Given the description of an element on the screen output the (x, y) to click on. 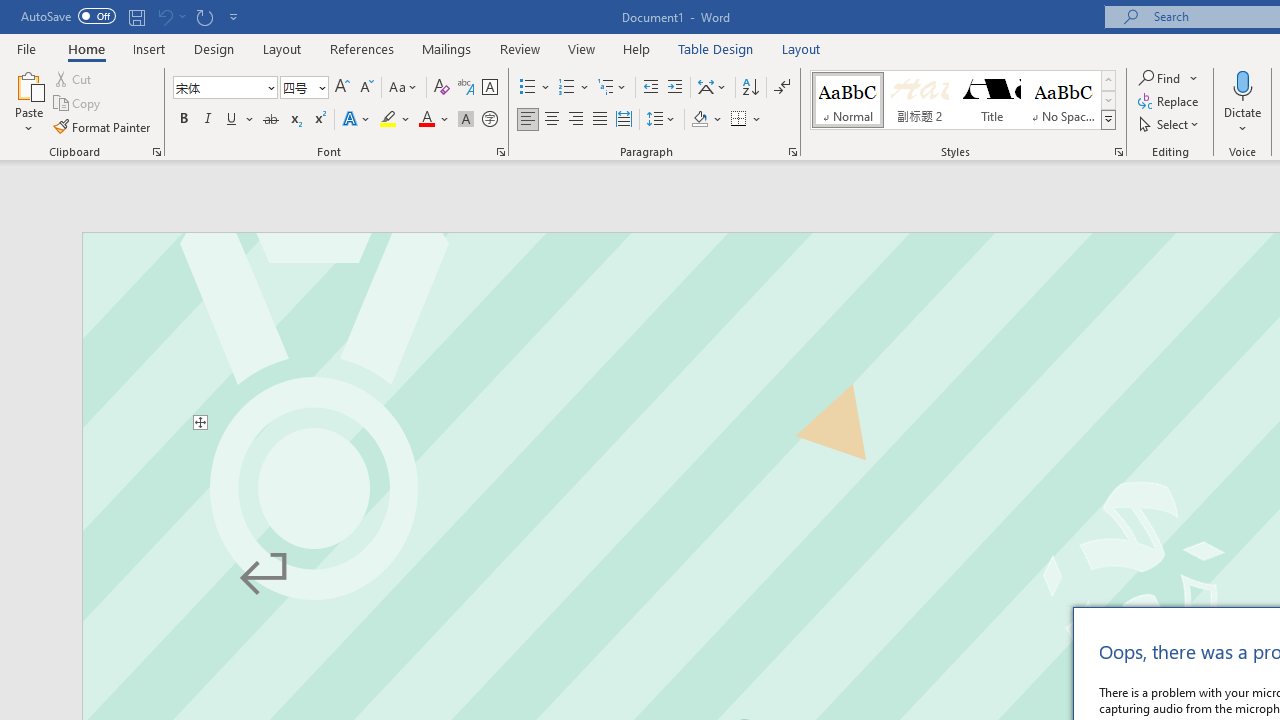
Can't Undo (170, 15)
